Given the description of an element on the screen output the (x, y) to click on. 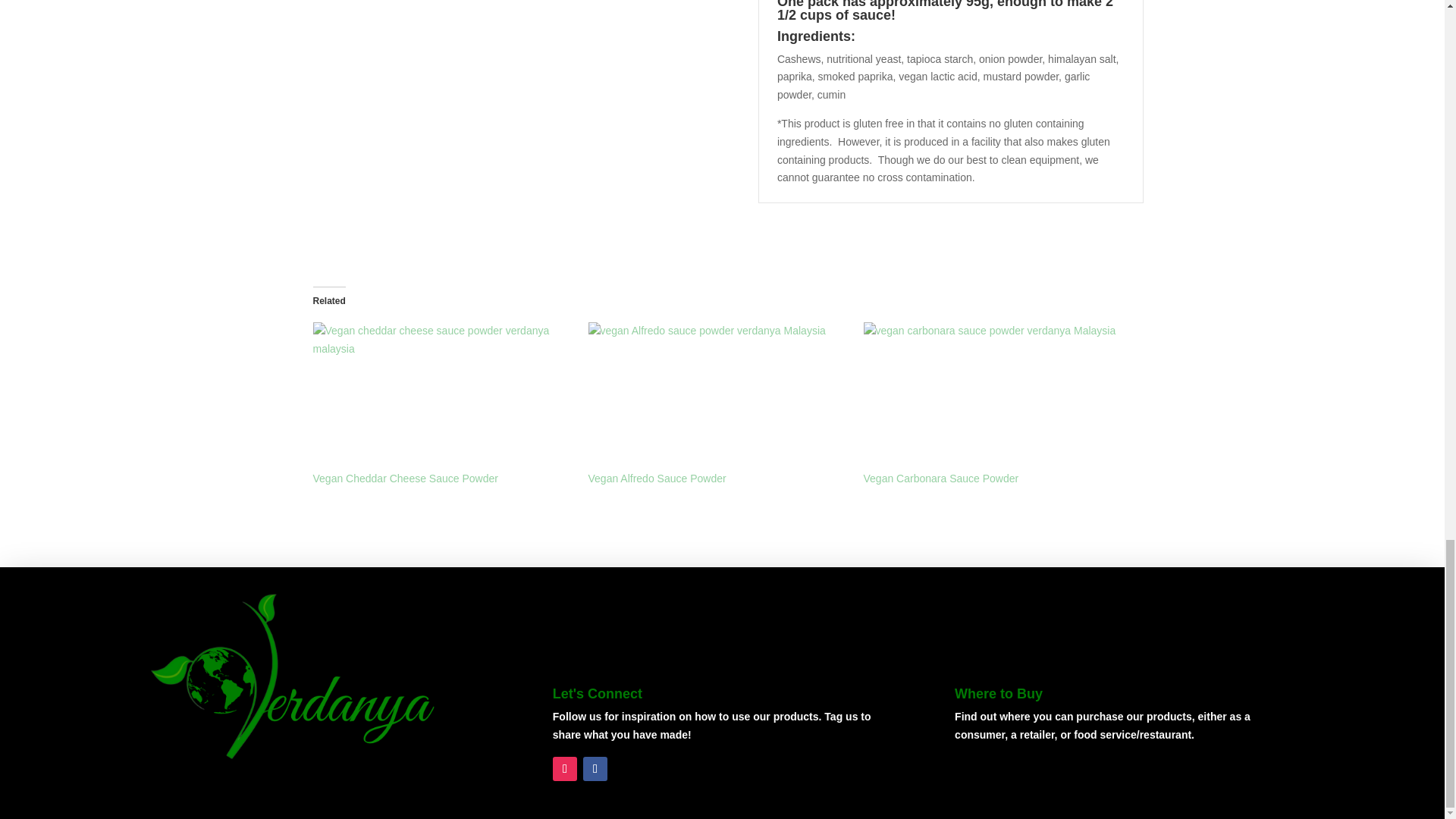
Follow on Instagram (564, 768)
Vegan Alfredo Sauce Powder (657, 478)
Vegan Alfredo Sauce Powder (718, 396)
Follow on Facebook (595, 768)
Vegan Alfredo Sauce Powder (657, 478)
Where to Buy (998, 693)
Vegan Cheddar Cheese Sauce Powder (405, 478)
Vegan Carbonara Sauce Powder (940, 478)
Vegan Cheddar Cheese Sauce Powder (405, 478)
Verdanya logo greenearth small (295, 676)
Vegan Carbonara Sauce Powder (992, 396)
Vegan Cheddar Cheese Sauce Powder (442, 396)
Vegan Carbonara Sauce Powder (940, 478)
